Given the description of an element on the screen output the (x, y) to click on. 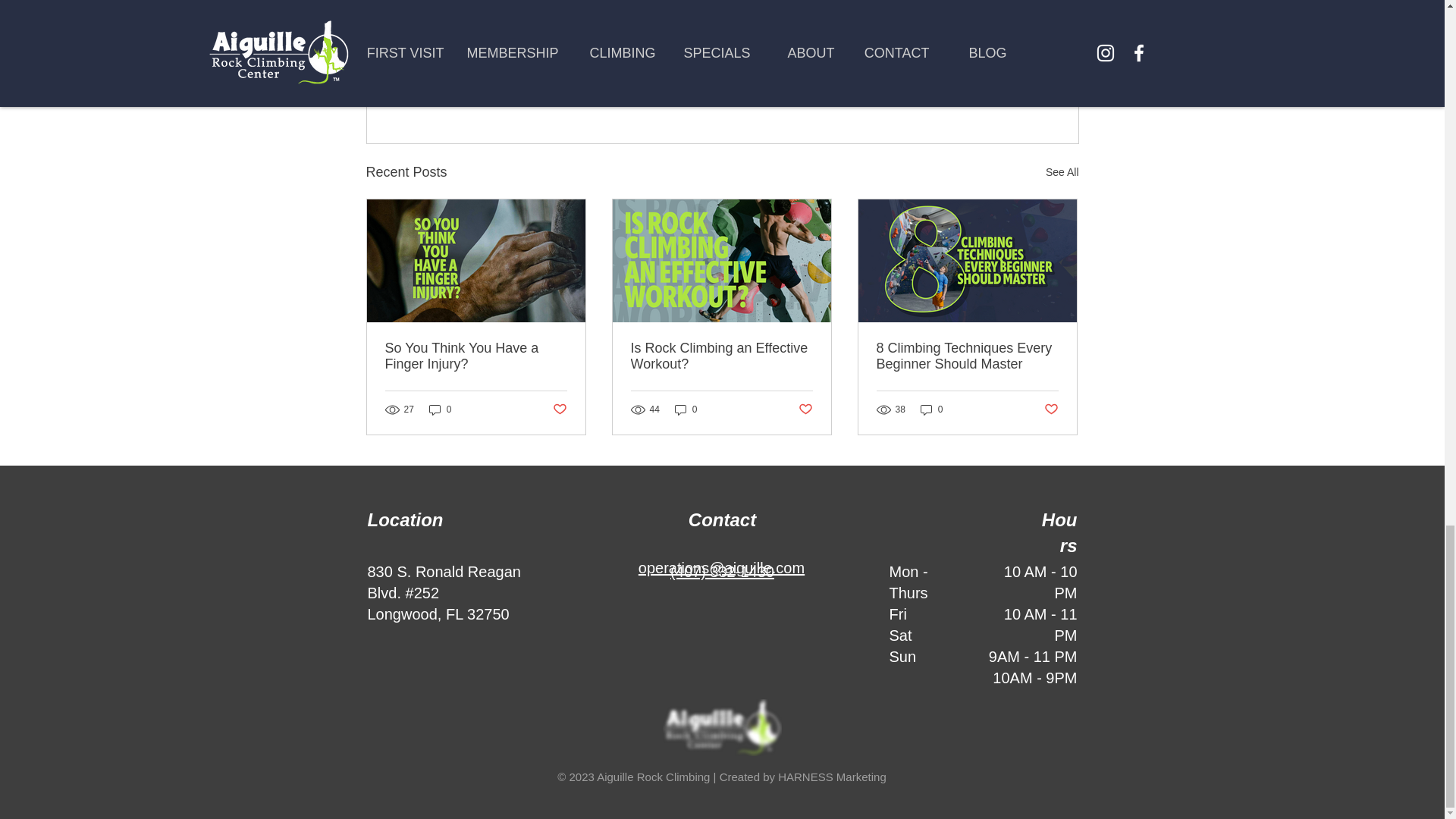
See All (1061, 172)
So You Think You Have a Finger Injury? (476, 356)
0 (685, 409)
0 (931, 409)
Post not marked as liked (1050, 409)
Is Rock Climbing an Effective Workout? (721, 356)
Post not marked as liked (558, 409)
8 Climbing Techniques Every Beginner Should Master (967, 356)
Post not marked as liked (990, 89)
0 (804, 409)
